Given the description of an element on the screen output the (x, y) to click on. 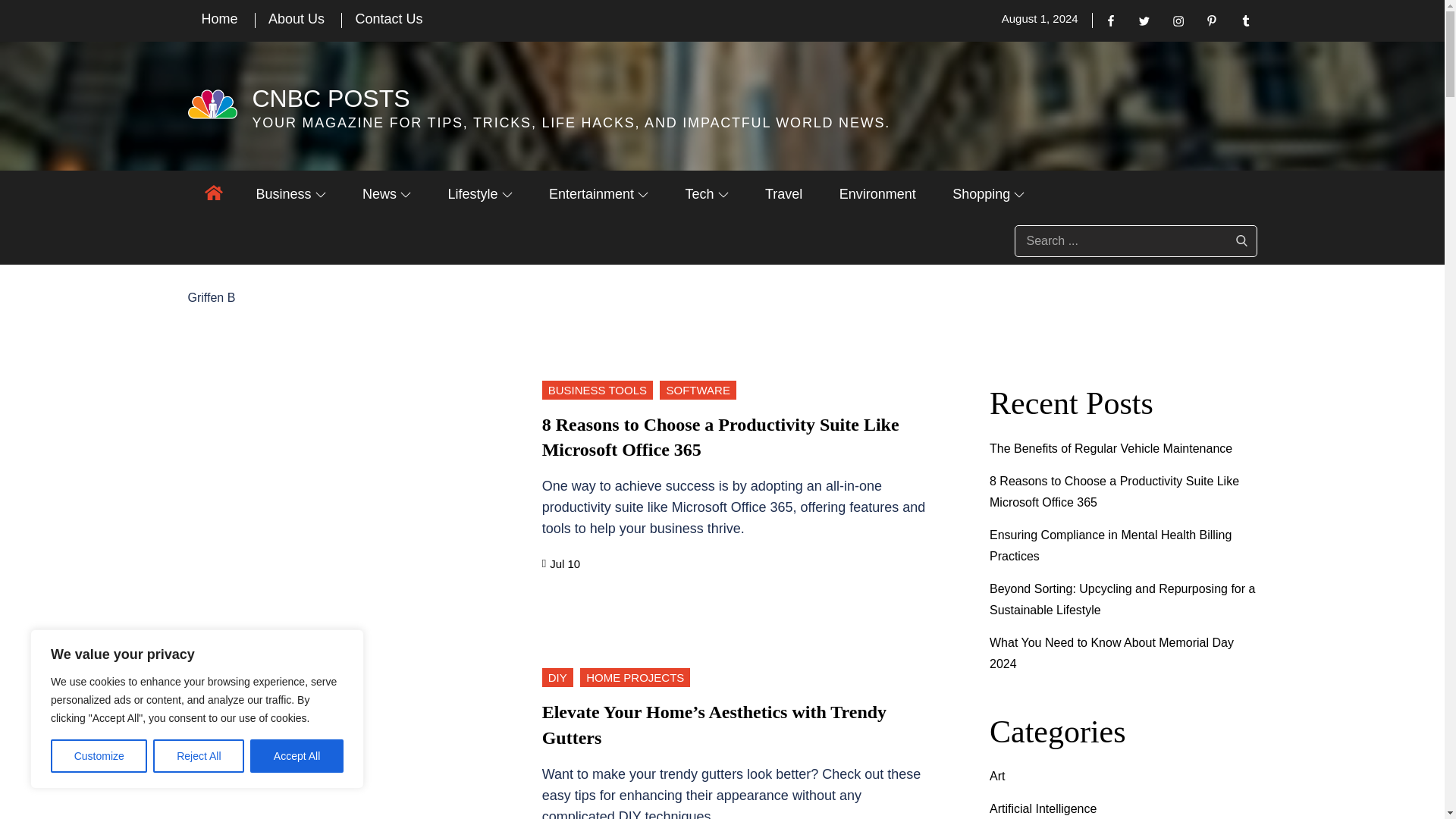
CNBC POSTS (330, 98)
Facebook (1110, 20)
Instagram (1178, 20)
Contact Us (387, 18)
Home (219, 18)
Business (291, 193)
Pinterest (1211, 20)
Twitter (1144, 20)
About Us (295, 18)
Accept All (296, 756)
